Given the description of an element on the screen output the (x, y) to click on. 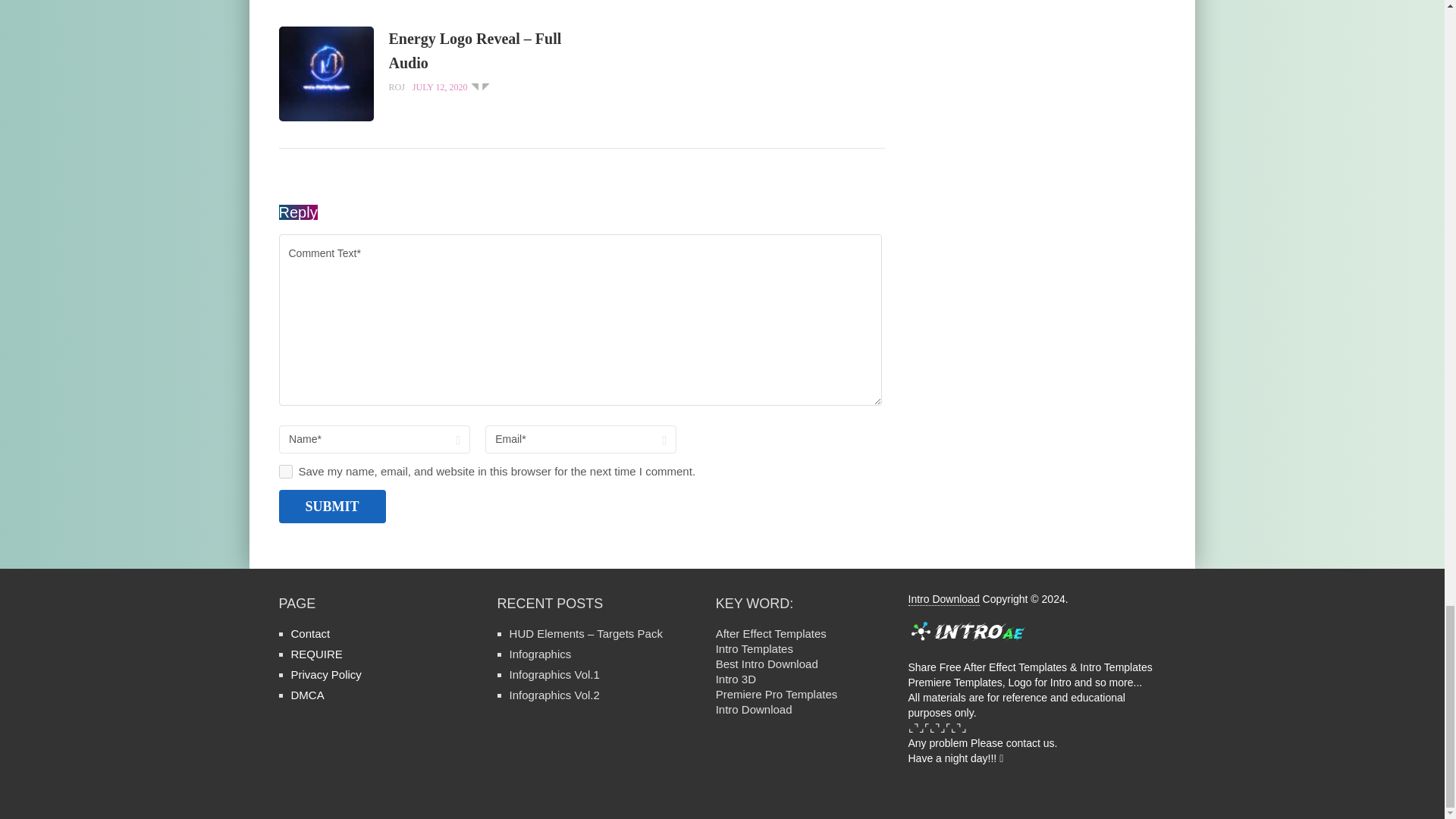
yes (285, 471)
Submit (332, 505)
